Given the description of an element on the screen output the (x, y) to click on. 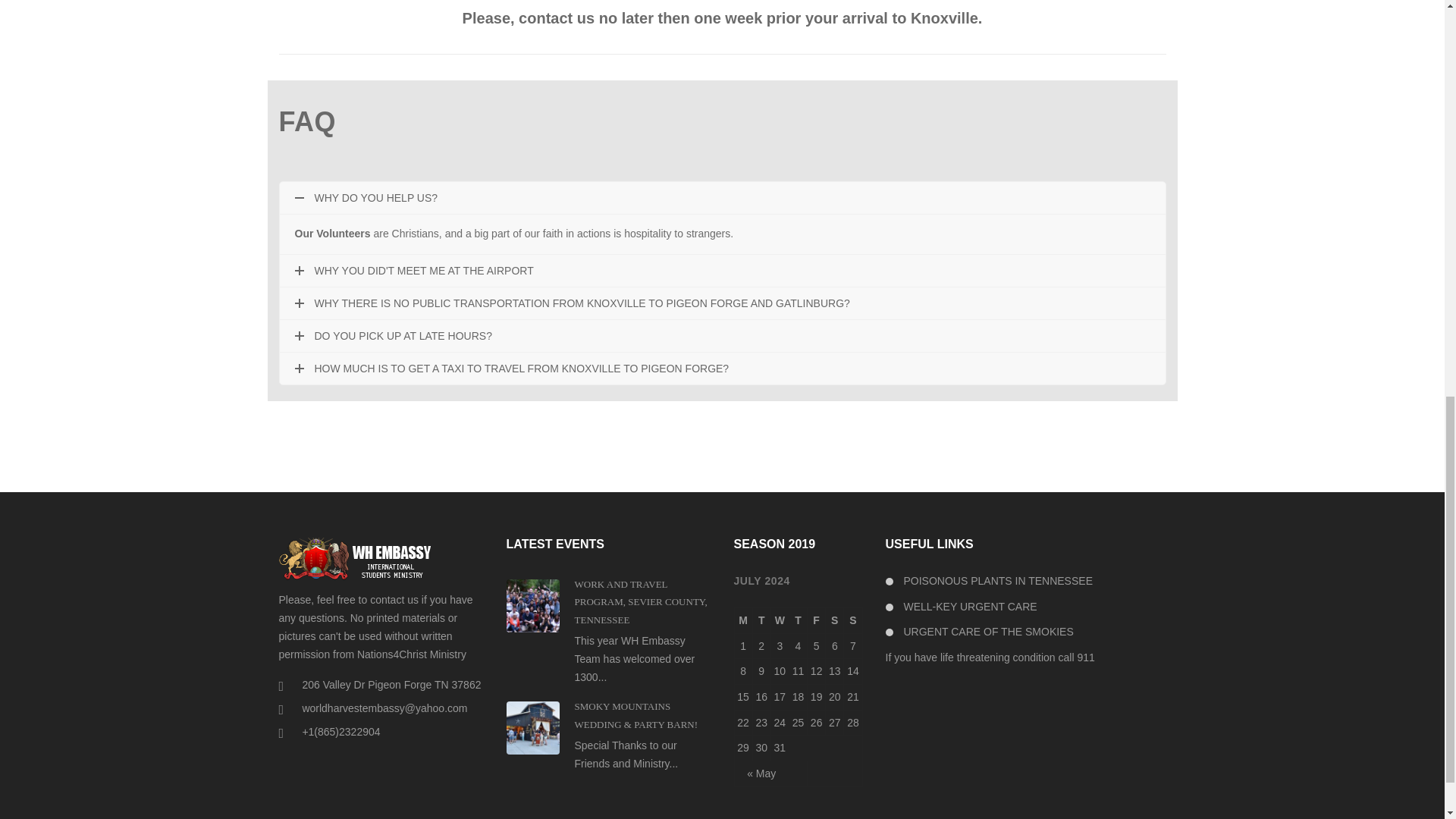
WHY DO YOU HELP US? (721, 197)
WHY YOU DID'T MEET ME AT THE AIRPORT (721, 270)
DO YOU PICK UP AT LATE HOURS? (721, 336)
WORK AND TRAVEL PROGRAM, SEVIER COUNTY, TENNESSEE (641, 601)
